Given the description of an element on the screen output the (x, y) to click on. 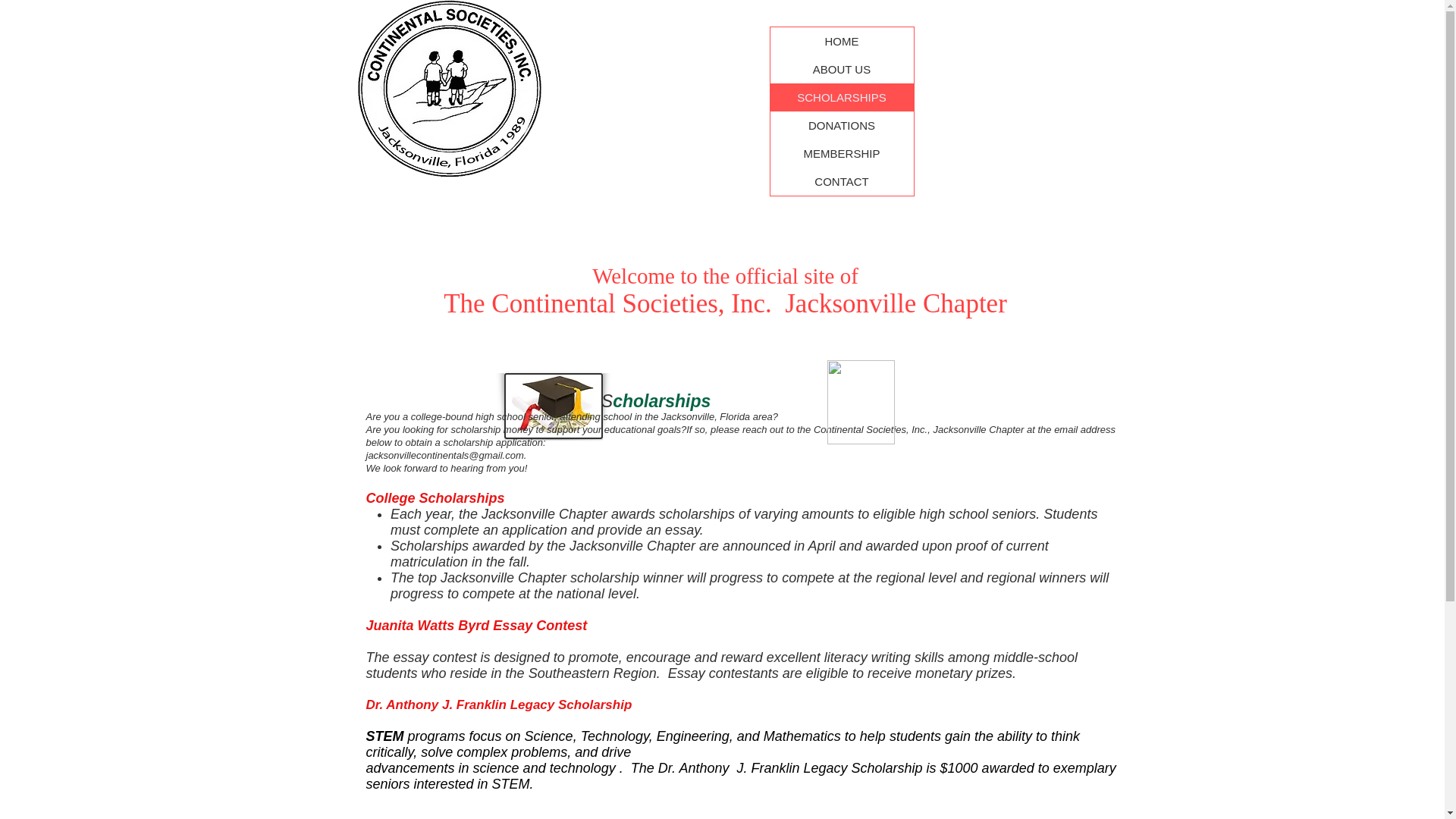
Welcome to the official site of (725, 275)
CONTACT (842, 181)
SCHOLARSHIPS (842, 97)
ABOUT US (842, 69)
MEMBERSHIP (842, 153)
DONATIONS (842, 125)
HOME (842, 41)
The Continental Societies, Inc.  Jacksonville Chapter (725, 303)
